Given the description of an element on the screen output the (x, y) to click on. 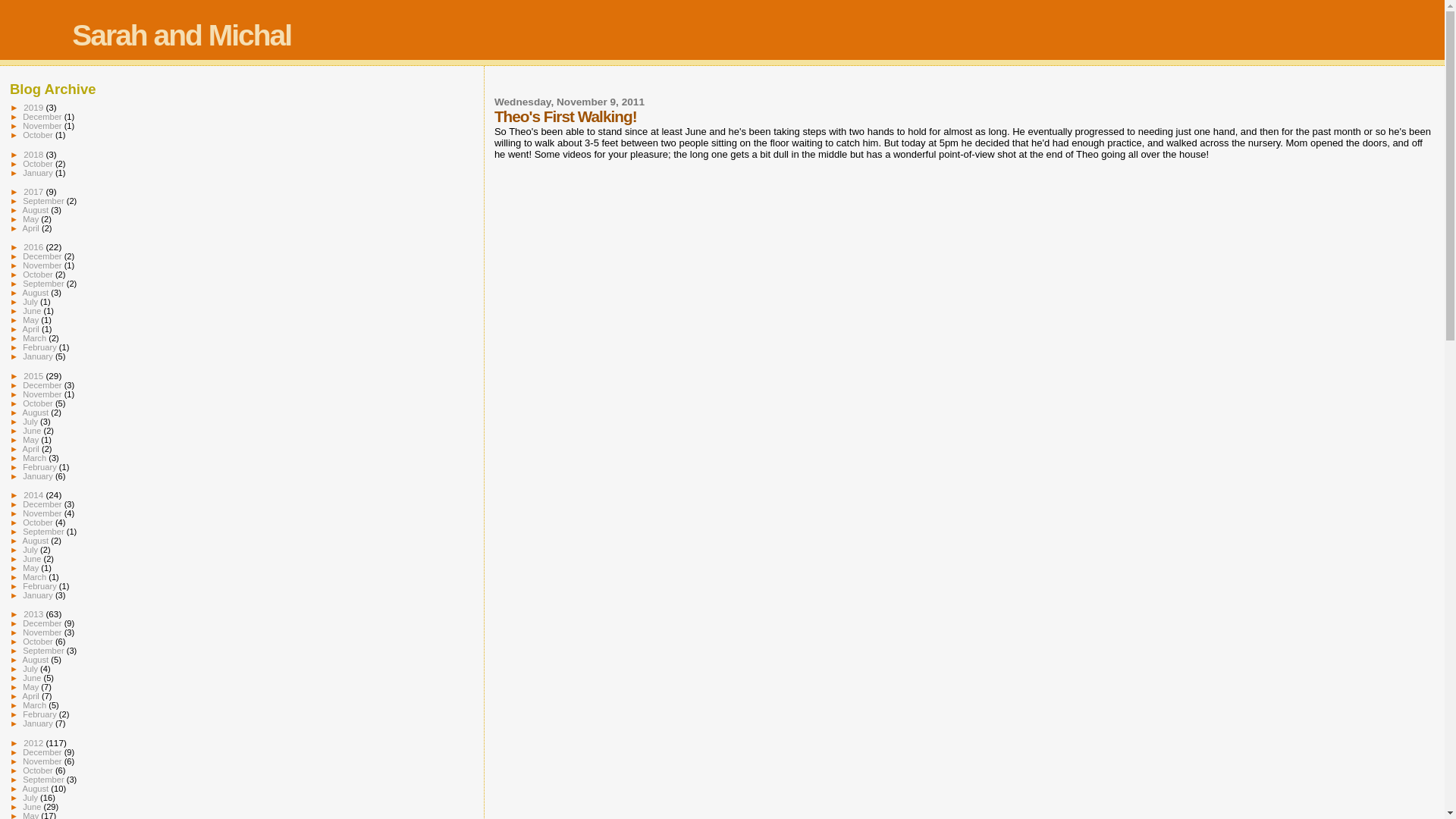
April (32, 227)
May (31, 218)
January (39, 172)
October (39, 134)
August (36, 209)
2018 (34, 153)
Sarah and Michal (181, 34)
October (39, 163)
2017 (34, 191)
December (43, 116)
2016 (34, 246)
November (43, 125)
2019 (34, 107)
September (44, 200)
